Given the description of an element on the screen output the (x, y) to click on. 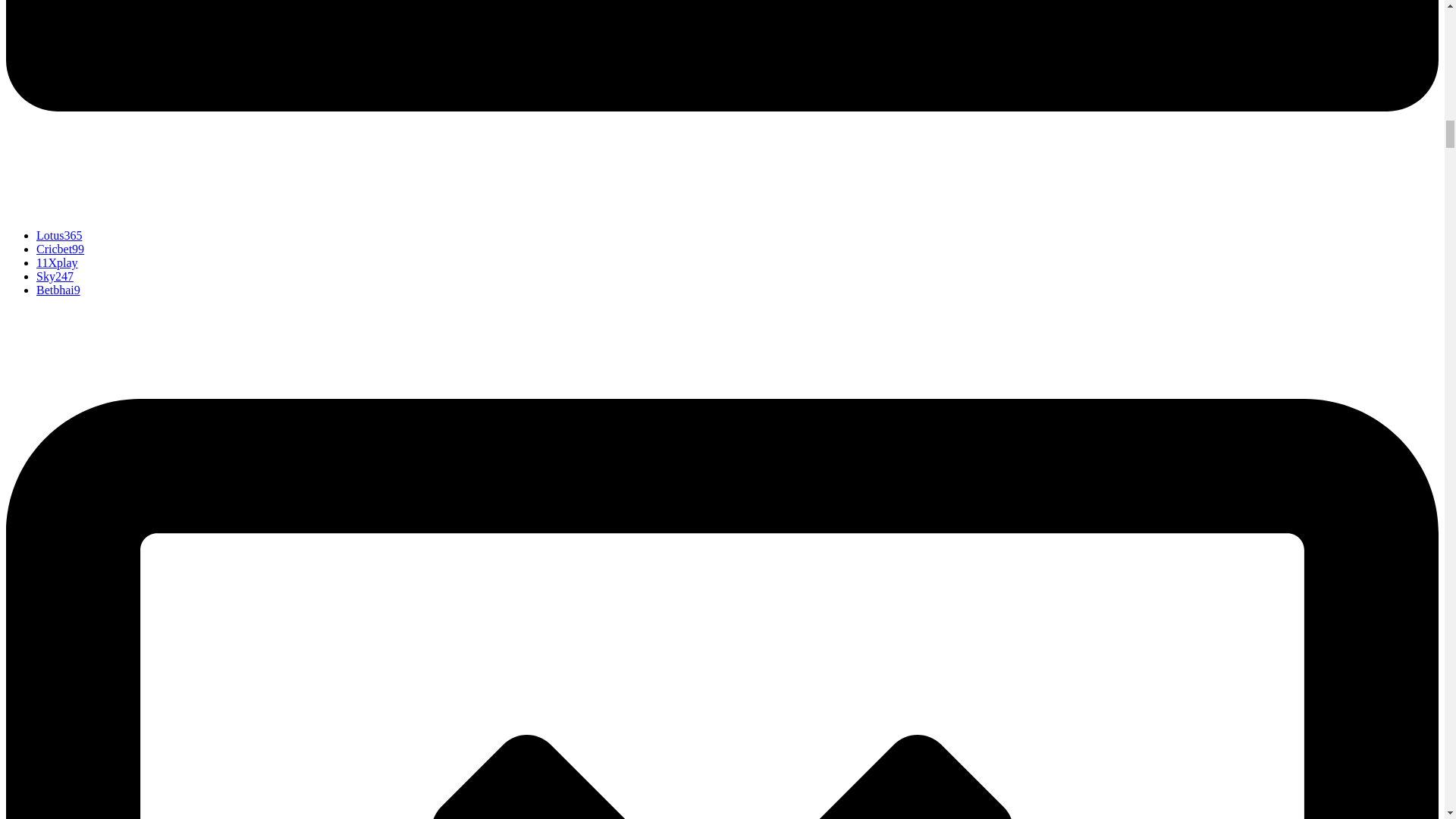
11Xplay (57, 262)
Betbhai9 (58, 289)
Lotus365 (58, 235)
Cricbet99 (60, 248)
Sky247 (55, 276)
